Given the description of an element on the screen output the (x, y) to click on. 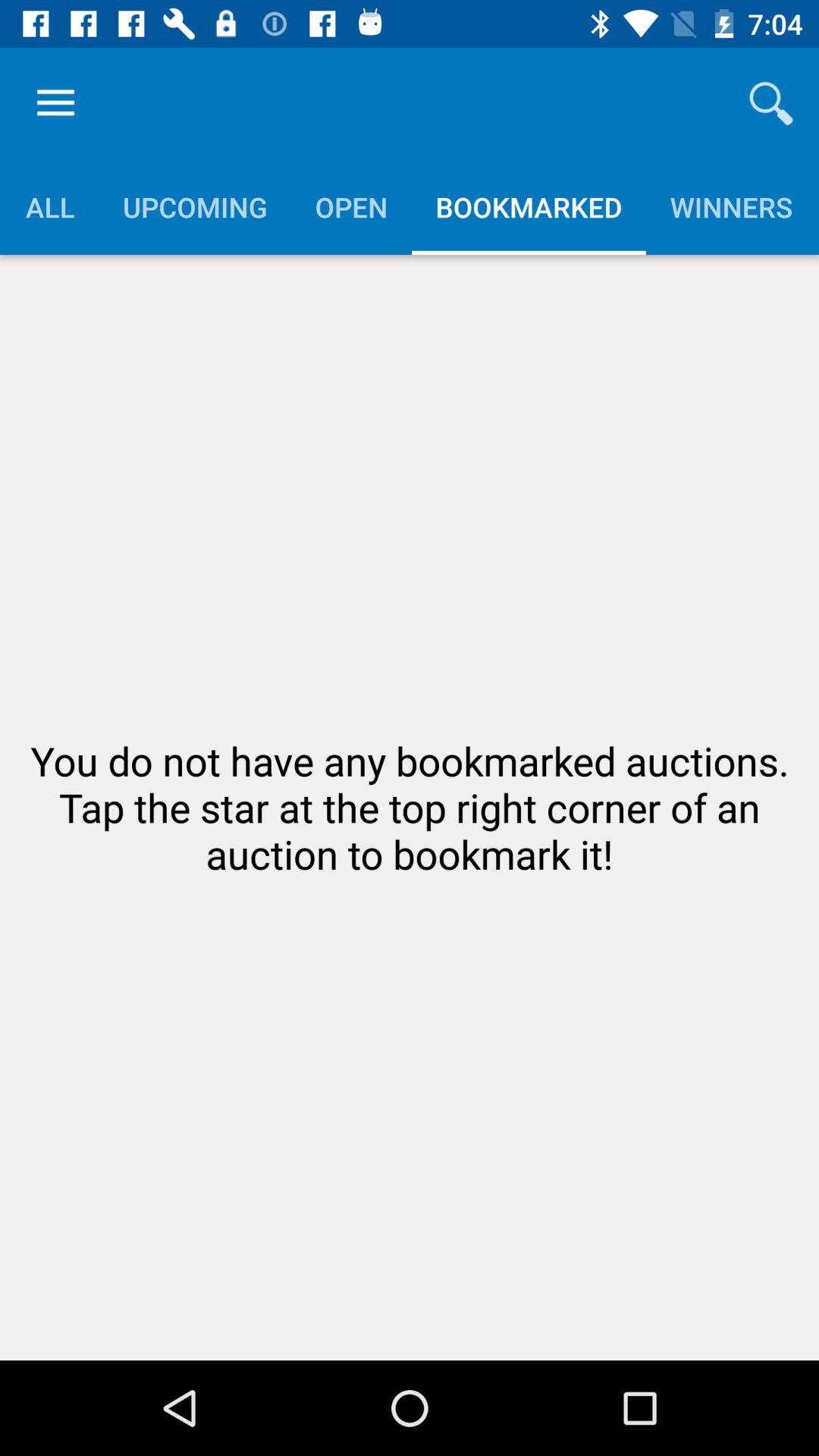
choose item above the winners item (771, 103)
